Given the description of an element on the screen output the (x, y) to click on. 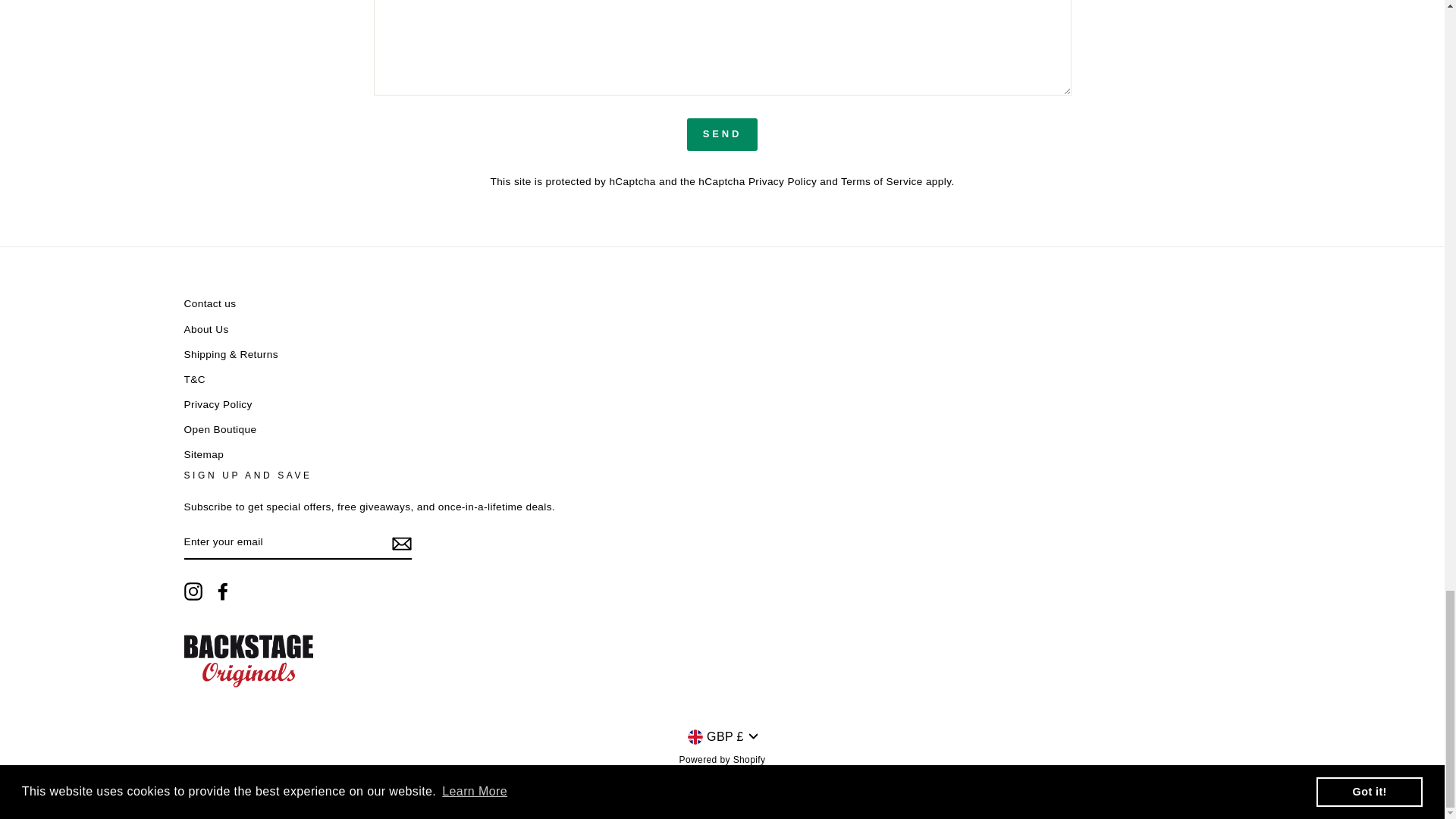
Backstage Originals on Facebook (222, 591)
Backstage Originals on Instagram (192, 591)
